Given the description of an element on the screen output the (x, y) to click on. 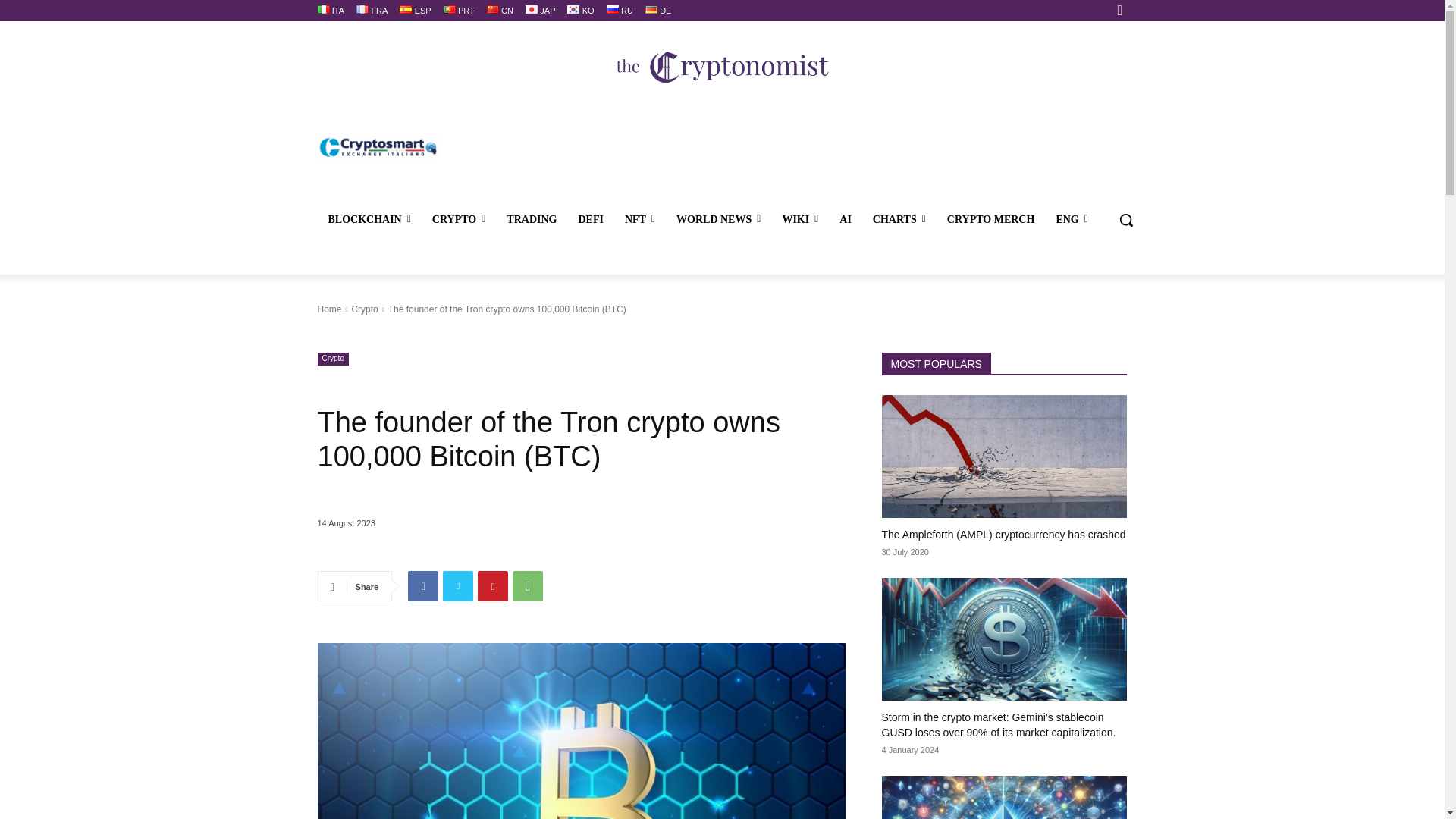
Pinterest (492, 585)
Twitter (457, 585)
View all posts in Crypto (363, 308)
Facebook (422, 585)
WhatsApp (527, 585)
tron crypto bitcoin (580, 730)
